Given the description of an element on the screen output the (x, y) to click on. 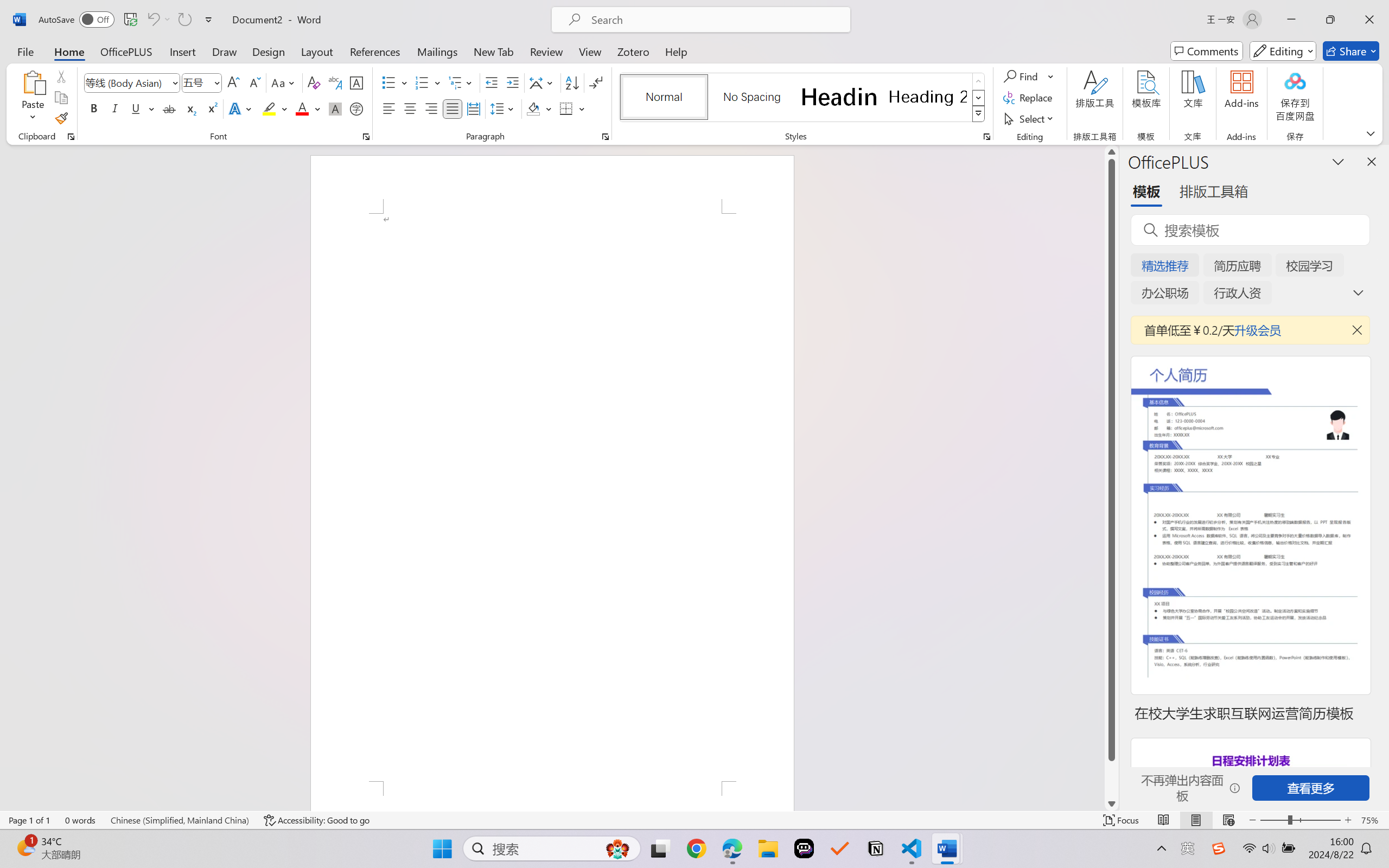
AutoSave (76, 19)
Heading 2 (927, 96)
Numbering (428, 82)
Microsoft search (715, 19)
Mailings (437, 51)
AutomationID: QuickStylesGallery (802, 97)
Justify (452, 108)
Cut (60, 75)
Paragraph... (605, 136)
Text Highlight Color (274, 108)
Font Color Red (302, 108)
Asian Layout (542, 82)
